Given the description of an element on the screen output the (x, y) to click on. 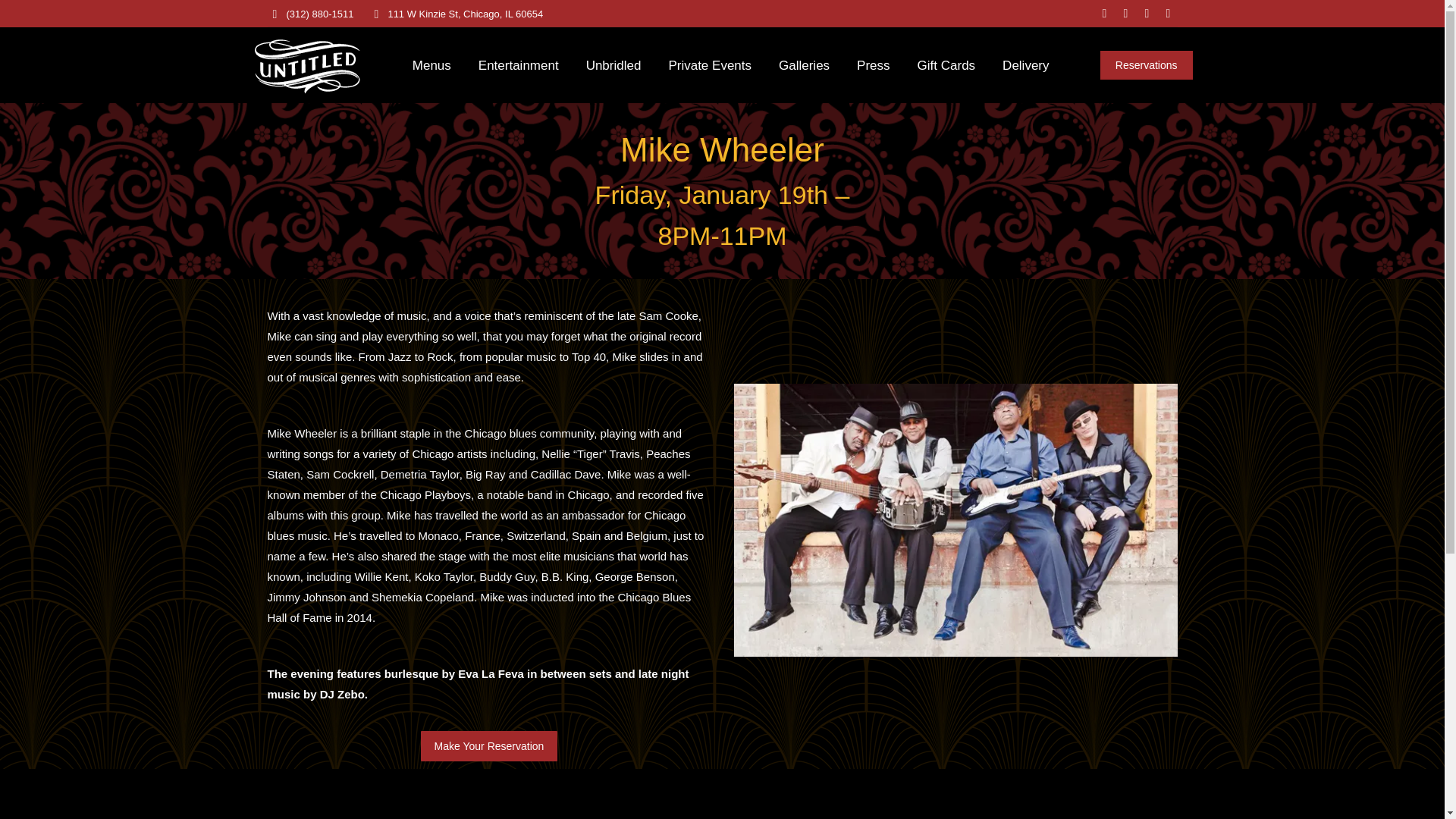
Linkedin page opens in new window (1167, 13)
111 W Kinzie St, Chicago, IL 60654 (455, 12)
YouTube page opens in new window (1146, 13)
Reservations (1146, 64)
Galleries (804, 64)
MW (955, 520)
Delivery (1024, 64)
Facebook page opens in new window (1103, 13)
Instagram page opens in new window (1125, 13)
Instagram page opens in new window (1125, 13)
Unbridled (614, 64)
Facebook page opens in new window (1103, 13)
Gift Cards (946, 64)
Private Events (709, 64)
Linkedin page opens in new window (1167, 13)
